Given the description of an element on the screen output the (x, y) to click on. 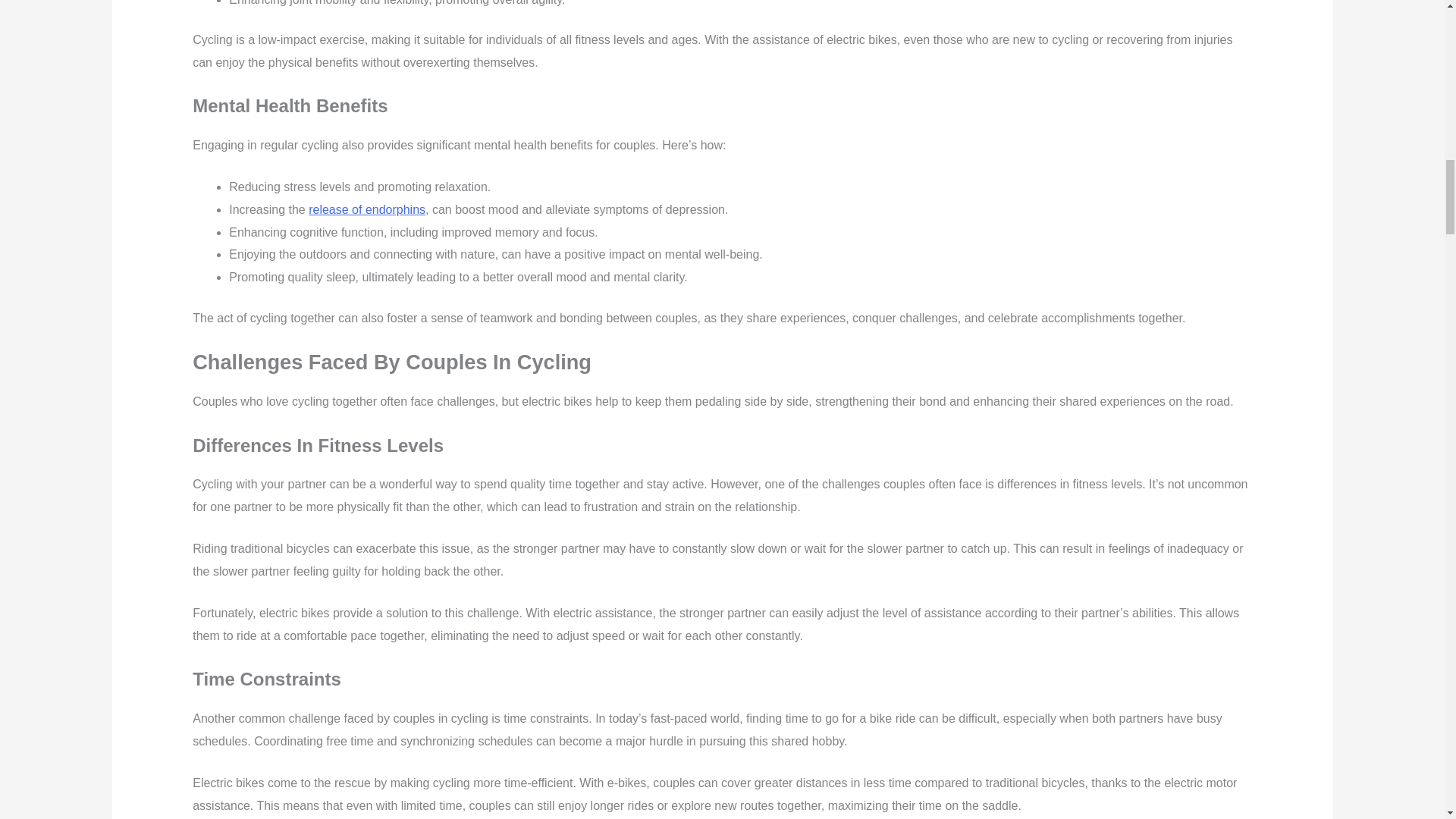
release of endorphins (366, 209)
